Given the description of an element on the screen output the (x, y) to click on. 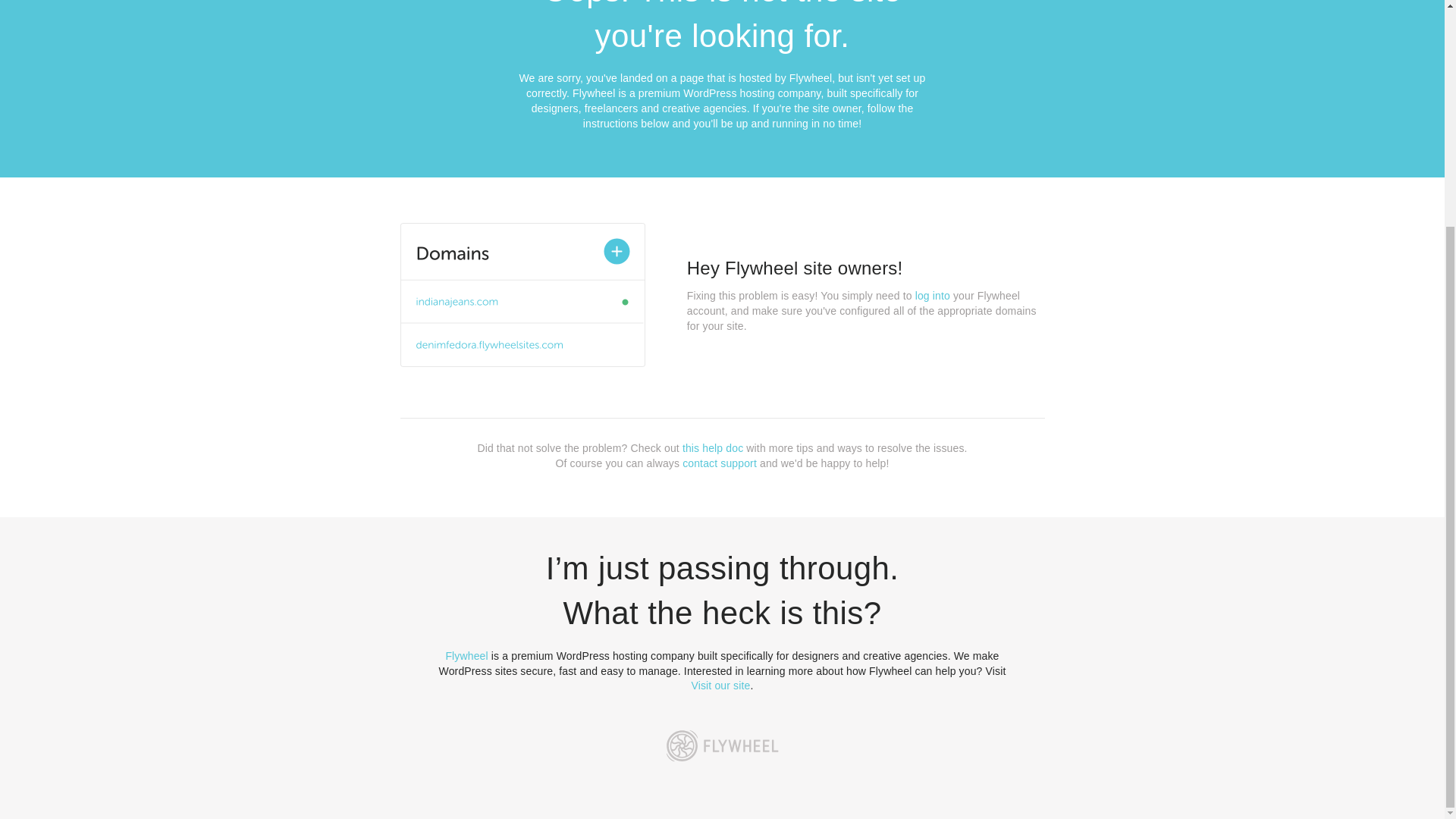
this help doc (712, 448)
contact support (719, 463)
Flywheel (466, 655)
Visit our site (721, 685)
log into (932, 295)
